Given the description of an element on the screen output the (x, y) to click on. 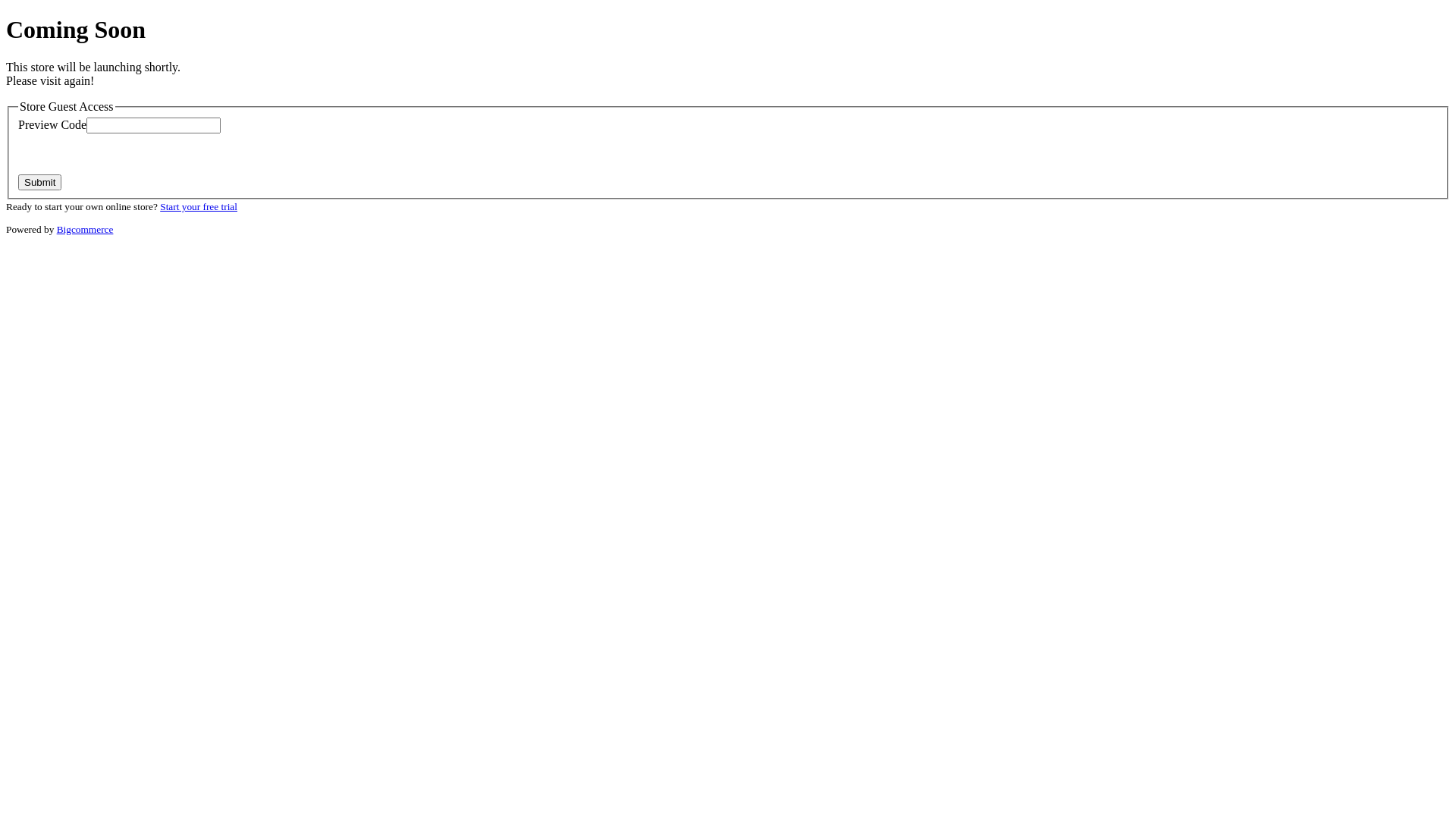
Start your free trial Element type: text (198, 206)
Bigcommerce Element type: text (84, 229)
Submit Element type: text (39, 182)
